Given the description of an element on the screen output the (x, y) to click on. 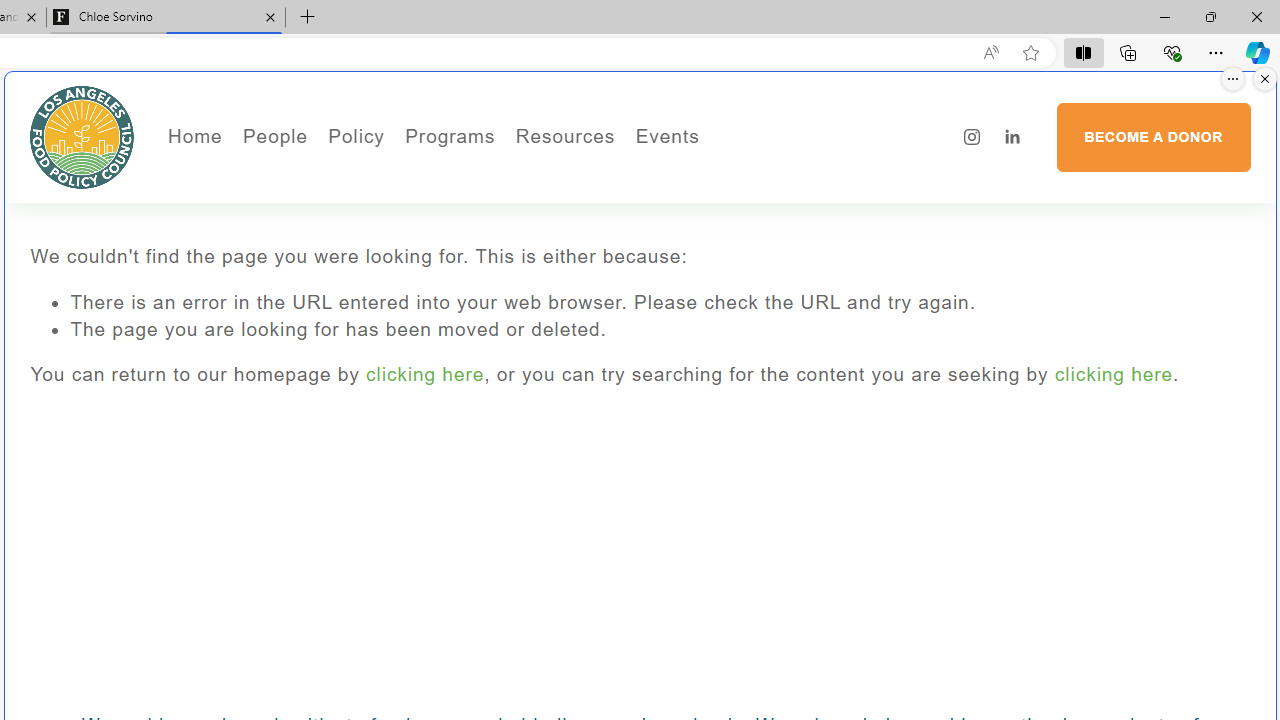
About (341, 176)
People (341, 205)
Settings and more (Alt+F) (1215, 52)
Los Angeles Food Policy Council (81, 136)
More options. (1233, 79)
Cultivating Farmers (504, 232)
Programs (450, 136)
LA Foodscapes (734, 205)
Good Food Zones (643, 176)
Working Groups and Alliances (468, 176)
Publications (468, 205)
SoCal Impact Food Fund (643, 205)
Close (1256, 16)
Events (734, 176)
